Given the description of an element on the screen output the (x, y) to click on. 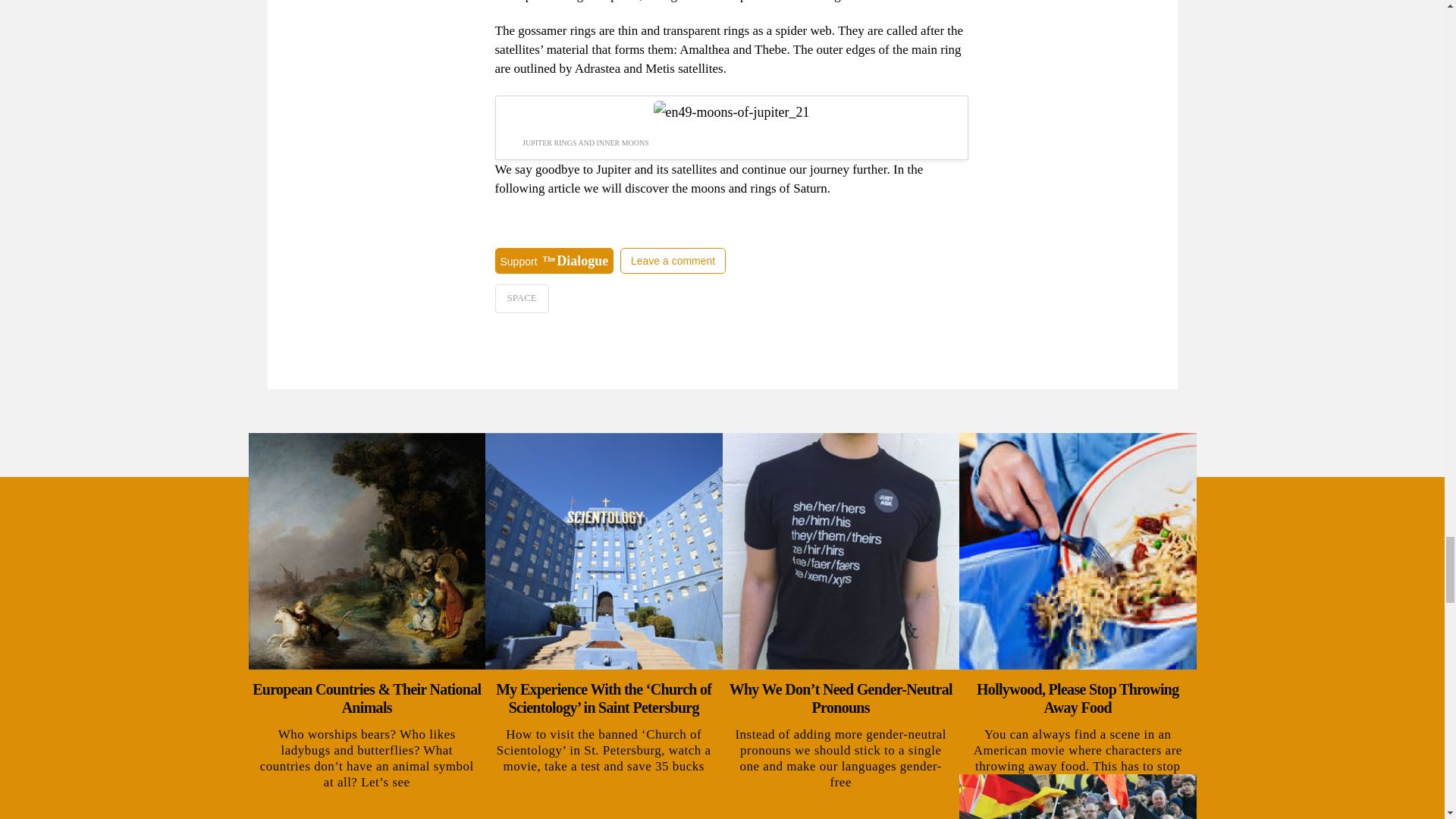
Leave a comment (672, 261)
SPACE (521, 298)
Hollywood, Please Stop Throwing Away Food (1077, 697)
SupportTheDialogue (553, 258)
Leave a comment (672, 261)
SupportTheDialogue (553, 261)
Leave a comment (670, 258)
